Given the description of an element on the screen output the (x, y) to click on. 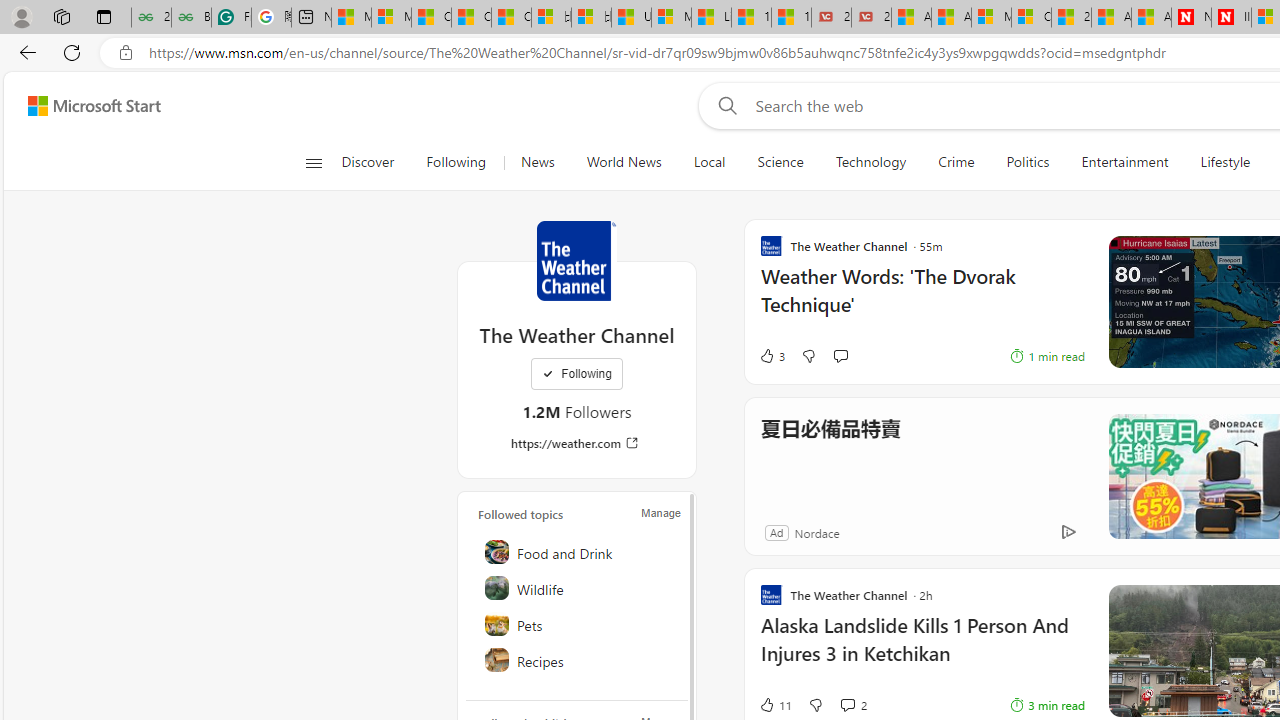
Newsweek - News, Analysis, Politics, Business, Technology (1191, 17)
Weather Words: 'The Dvorak Technique' (922, 300)
